Given the description of an element on the screen output the (x, y) to click on. 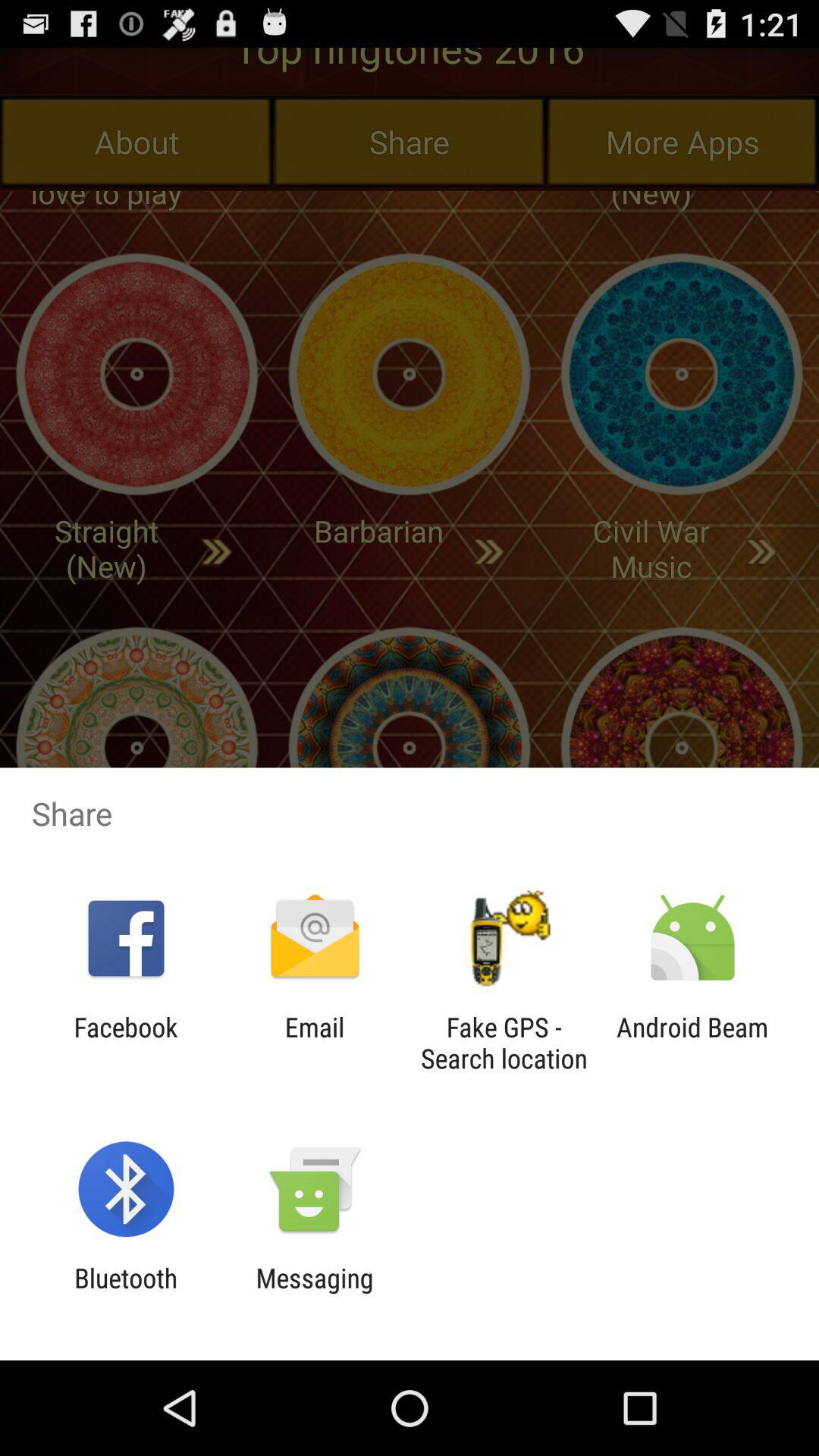
turn on bluetooth app (125, 1293)
